Given the description of an element on the screen output the (x, y) to click on. 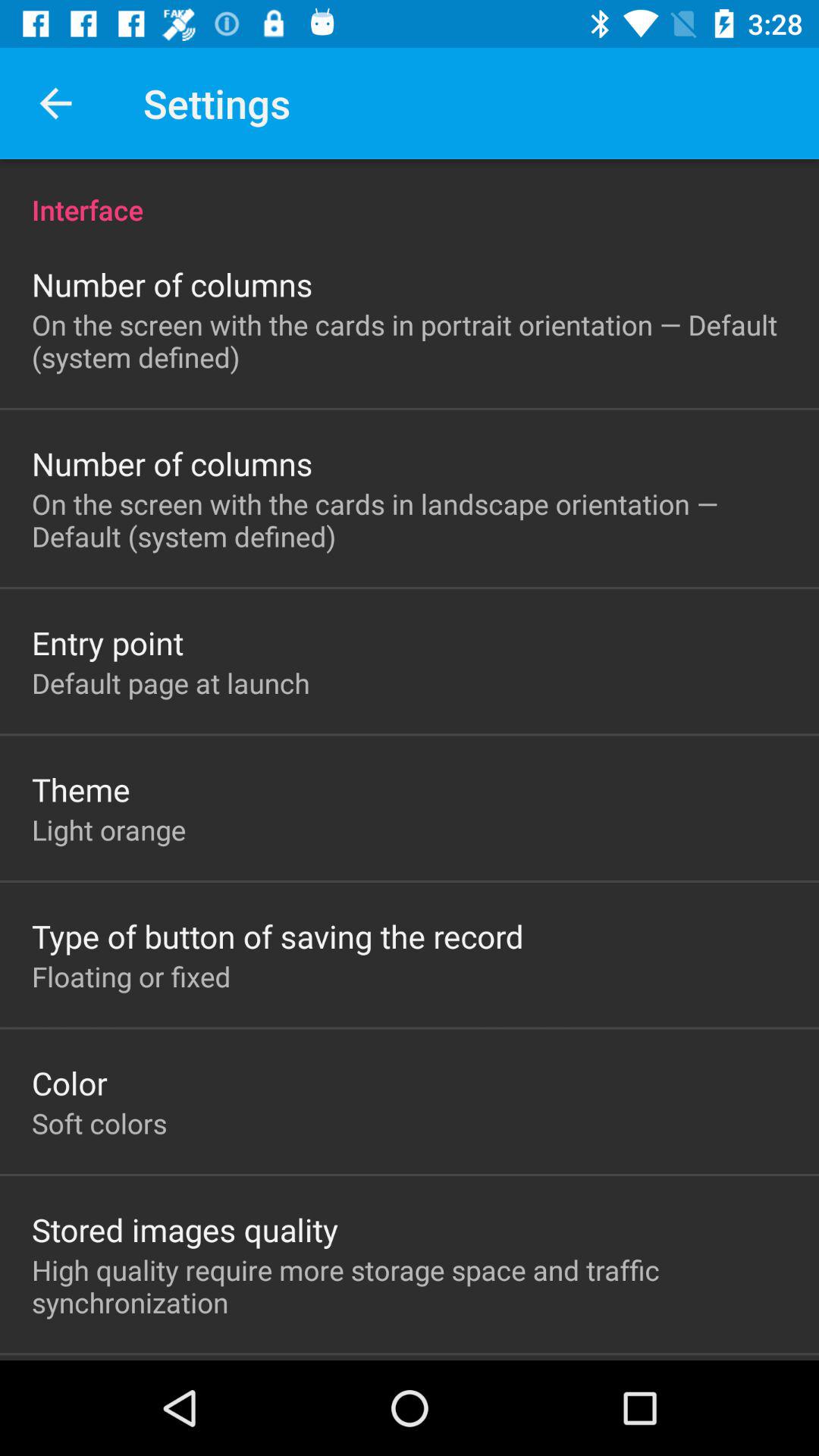
tap the soft colors item (99, 1123)
